Given the description of an element on the screen output the (x, y) to click on. 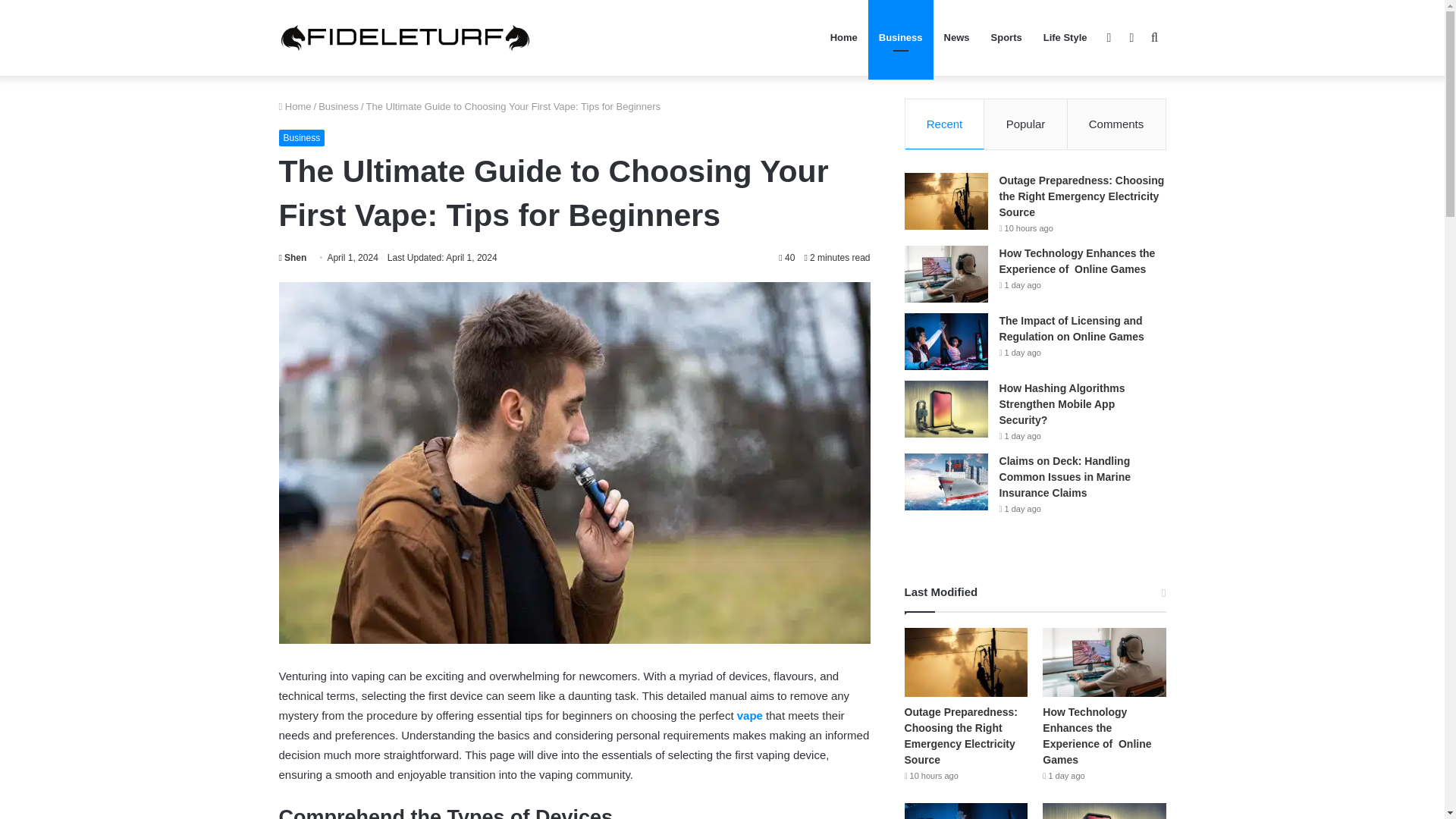
Home (295, 106)
Business (301, 137)
fideleturf (405, 37)
Business (338, 106)
vape (749, 715)
Shen (293, 257)
Shen (293, 257)
